Given the description of an element on the screen output the (x, y) to click on. 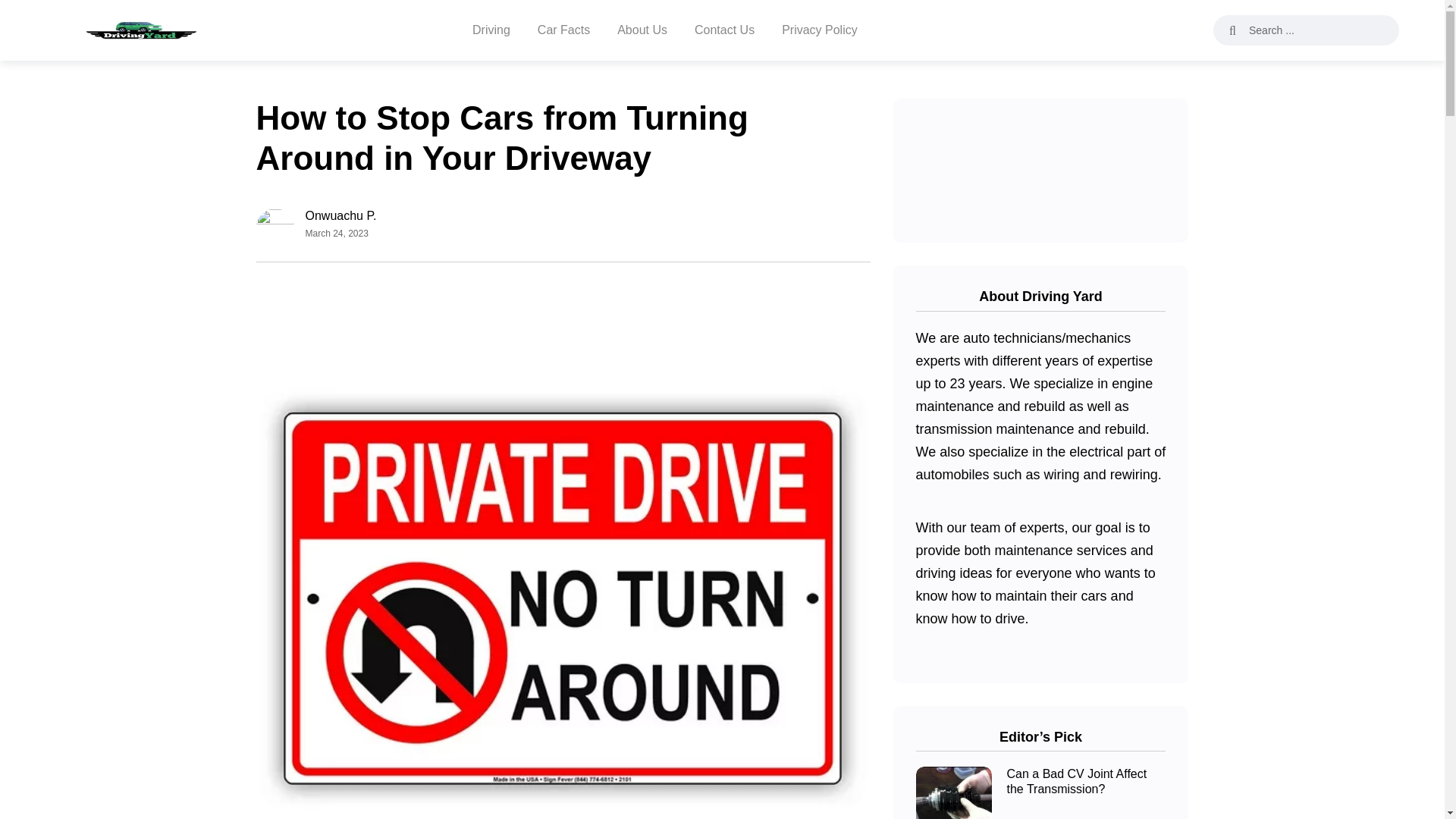
DrivingYard (146, 30)
Onwuachu P. (339, 215)
Contact Us (724, 30)
Privacy Policy (819, 30)
